Given the description of an element on the screen output the (x, y) to click on. 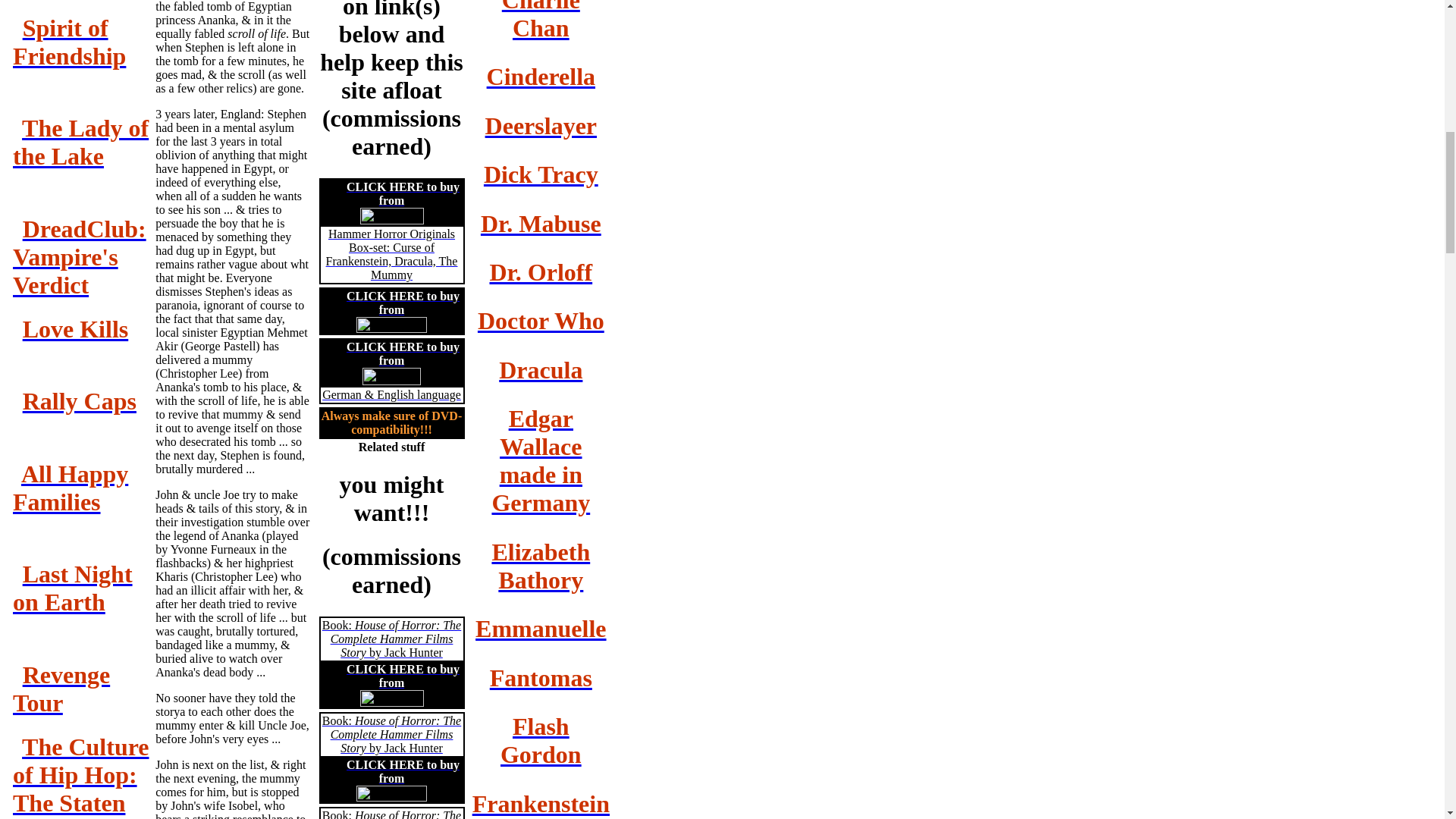
Spirit of Friendship (69, 41)
DreadClub: Vampire's Verdict (80, 256)
Rally Caps (79, 400)
Love Kills (76, 329)
Revenge Tour (61, 688)
The Lady of the Lake (80, 141)
All Happy Families (70, 487)
Last Night on Earth (72, 587)
The Culture of Hip Hop: The Staten Island Story - Part 3 (81, 776)
